Given the description of an element on the screen output the (x, y) to click on. 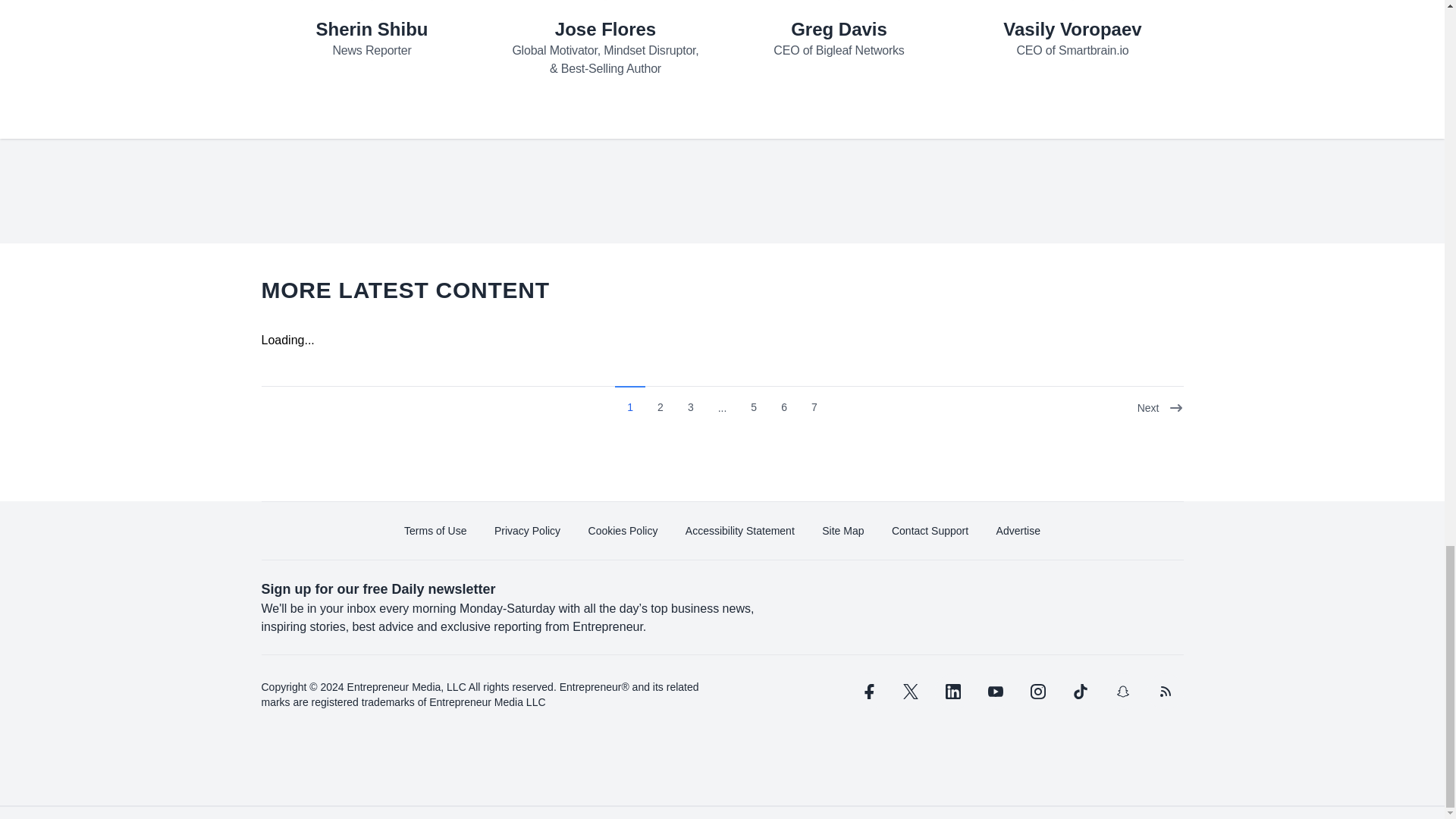
rss (1164, 691)
instagram (1037, 691)
youtube (994, 691)
twitter (909, 691)
facebook (866, 691)
tiktok (1079, 691)
linkedin (952, 691)
snapchat (1121, 691)
